Given the description of an element on the screen output the (x, y) to click on. 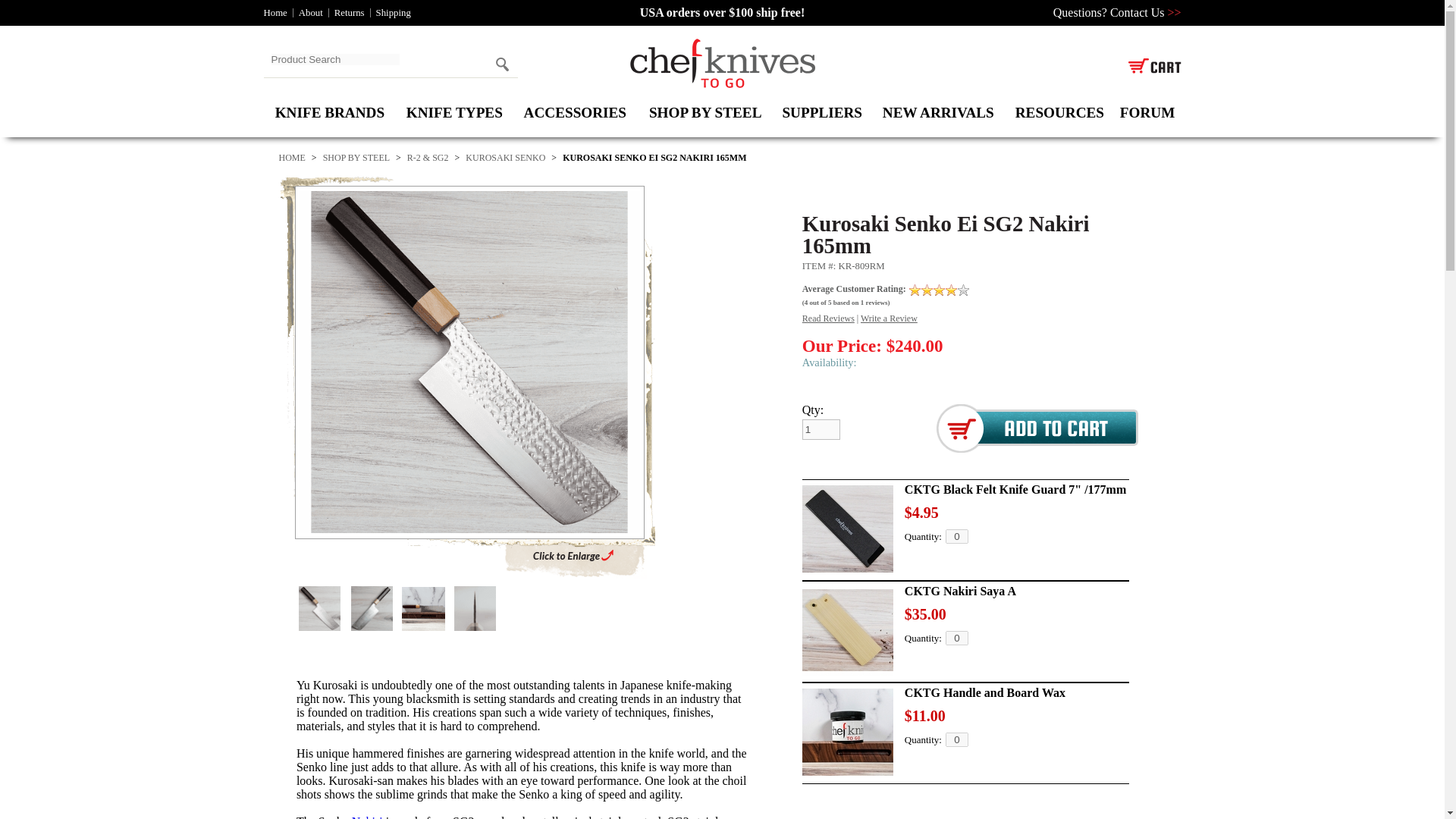
Shipping (392, 12)
0 (956, 739)
Returns (349, 12)
0 (956, 536)
About (310, 12)
0 (956, 637)
Home (274, 12)
1 (821, 429)
KNIFE BRANDS (329, 112)
